Given the description of an element on the screen output the (x, y) to click on. 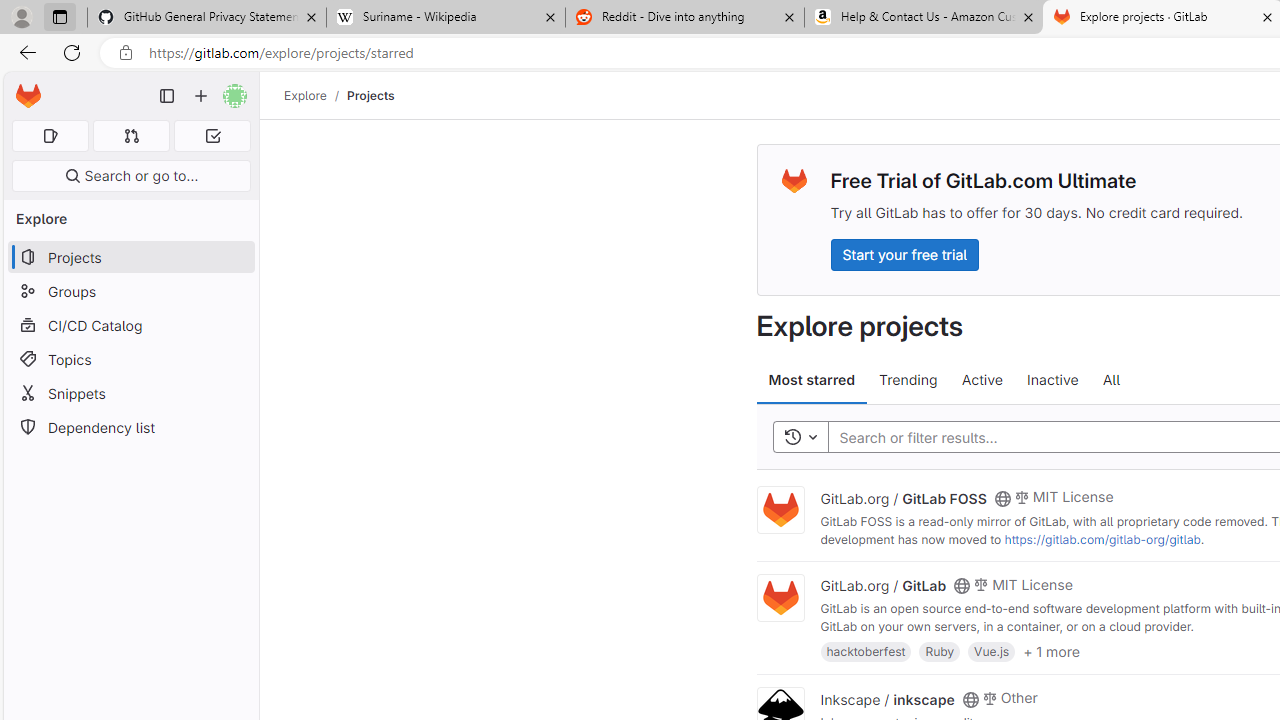
Create new... (201, 96)
Active (982, 379)
Suriname - Wikipedia (445, 17)
Dependency list (130, 427)
https://gitlab.com/gitlab-org/gitlab (1101, 539)
Projects (370, 95)
Toggle history (800, 437)
Vue.js (991, 650)
Inkscape / inkscape (887, 698)
Dependency list (130, 427)
Ruby (940, 650)
